Given the description of an element on the screen output the (x, y) to click on. 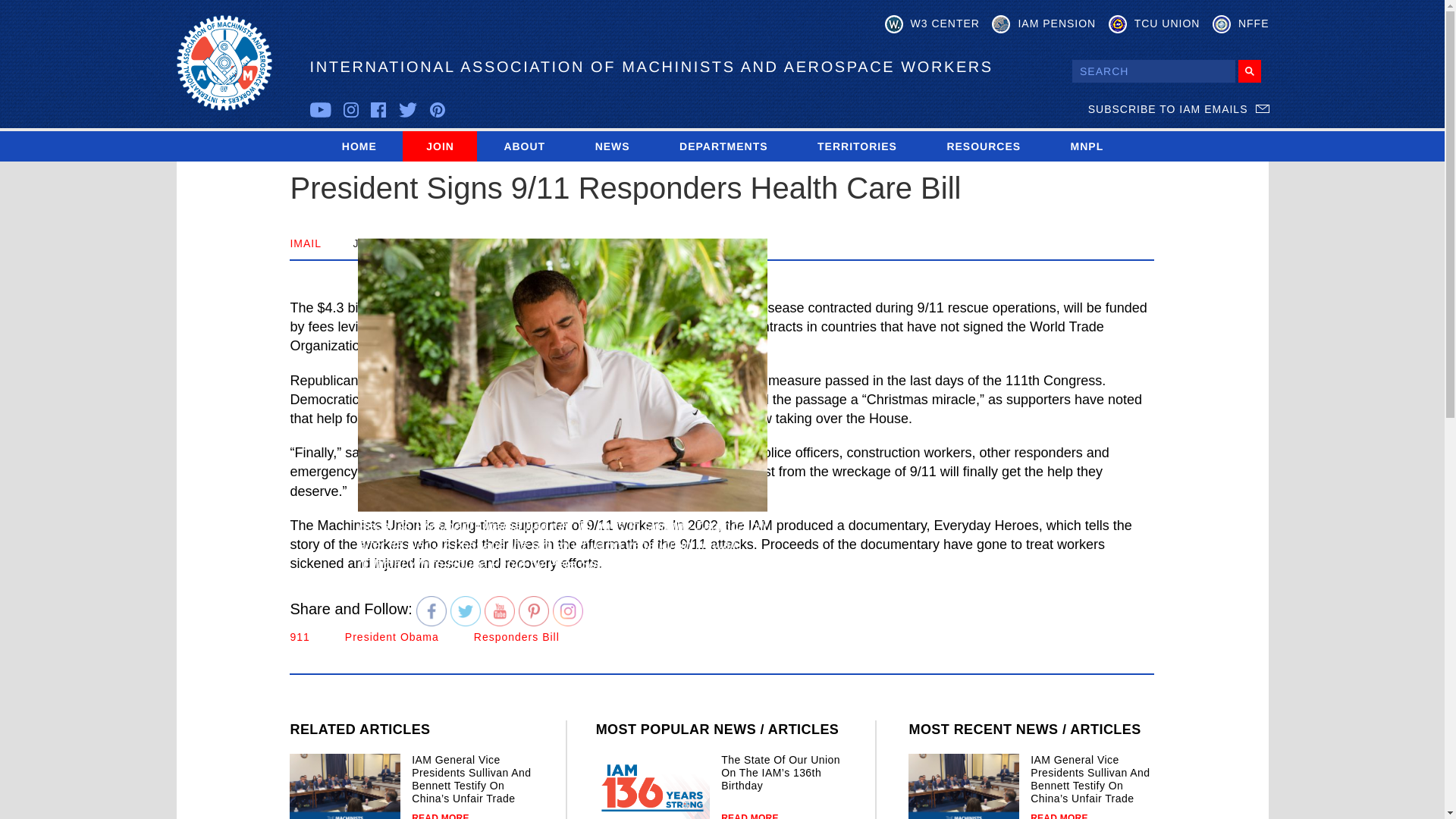
HOME (358, 146)
Twitter (464, 611)
NFFE (1240, 24)
Instagram (568, 611)
NEWS (612, 146)
YouTube (499, 611)
ABOUT (523, 146)
Pinterest (533, 611)
TCU UNION (1153, 24)
TERRITORIES (856, 146)
IAM PENSION (1043, 24)
SUBSCRIBE TO IAM EMAILS (1178, 108)
Facebook (431, 611)
MNPL (1086, 146)
JOIN (440, 146)
